Given the description of an element on the screen output the (x, y) to click on. 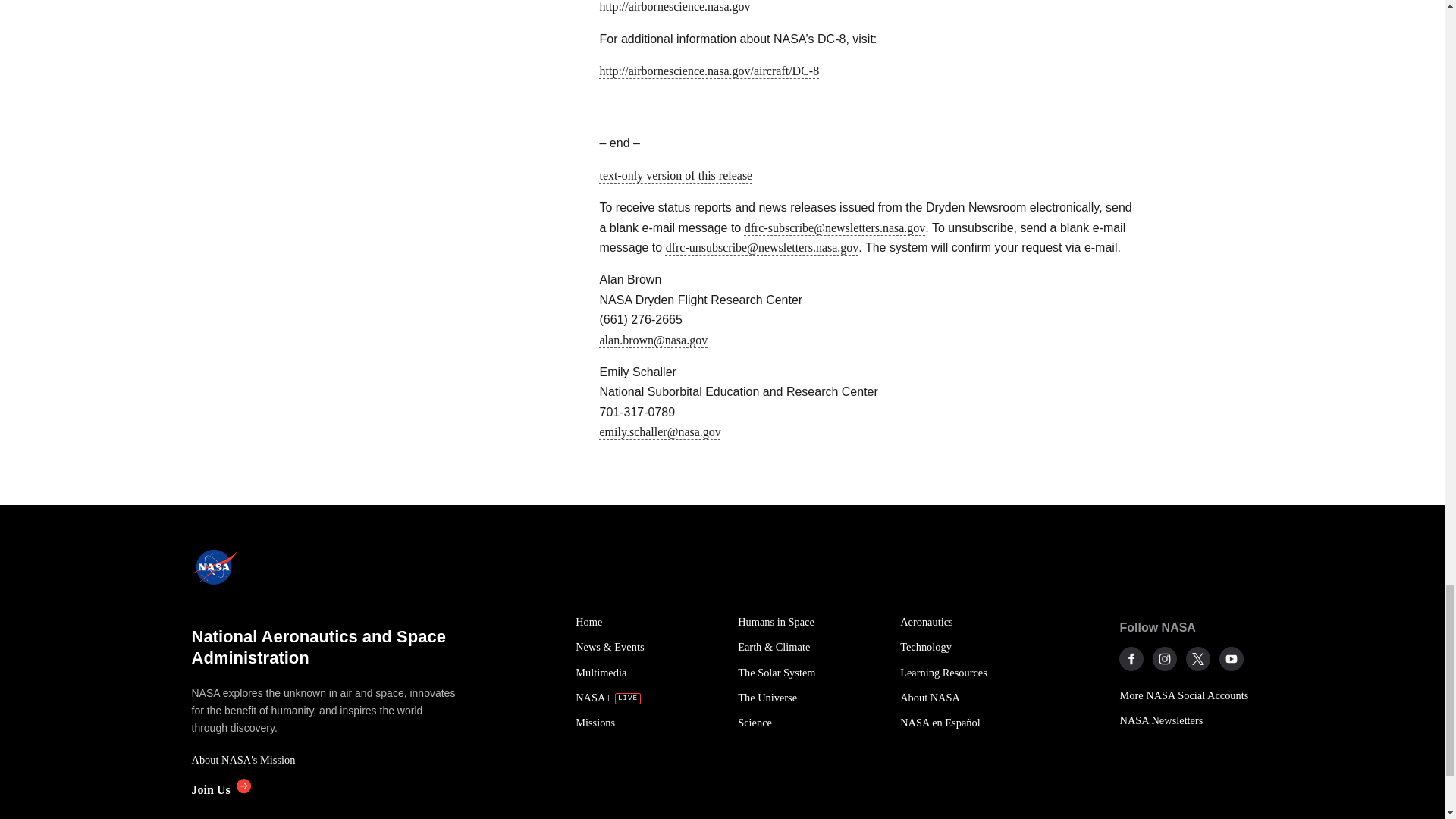
NASA on X (1197, 658)
Multimedia (647, 672)
NASA on Instagram (1164, 658)
Home (647, 621)
NASA on YouTube (1231, 658)
About NASA's Mission (324, 760)
NASA on Facebook (1130, 658)
text-only version of this release (675, 174)
Join Us (220, 789)
